Given the description of an element on the screen output the (x, y) to click on. 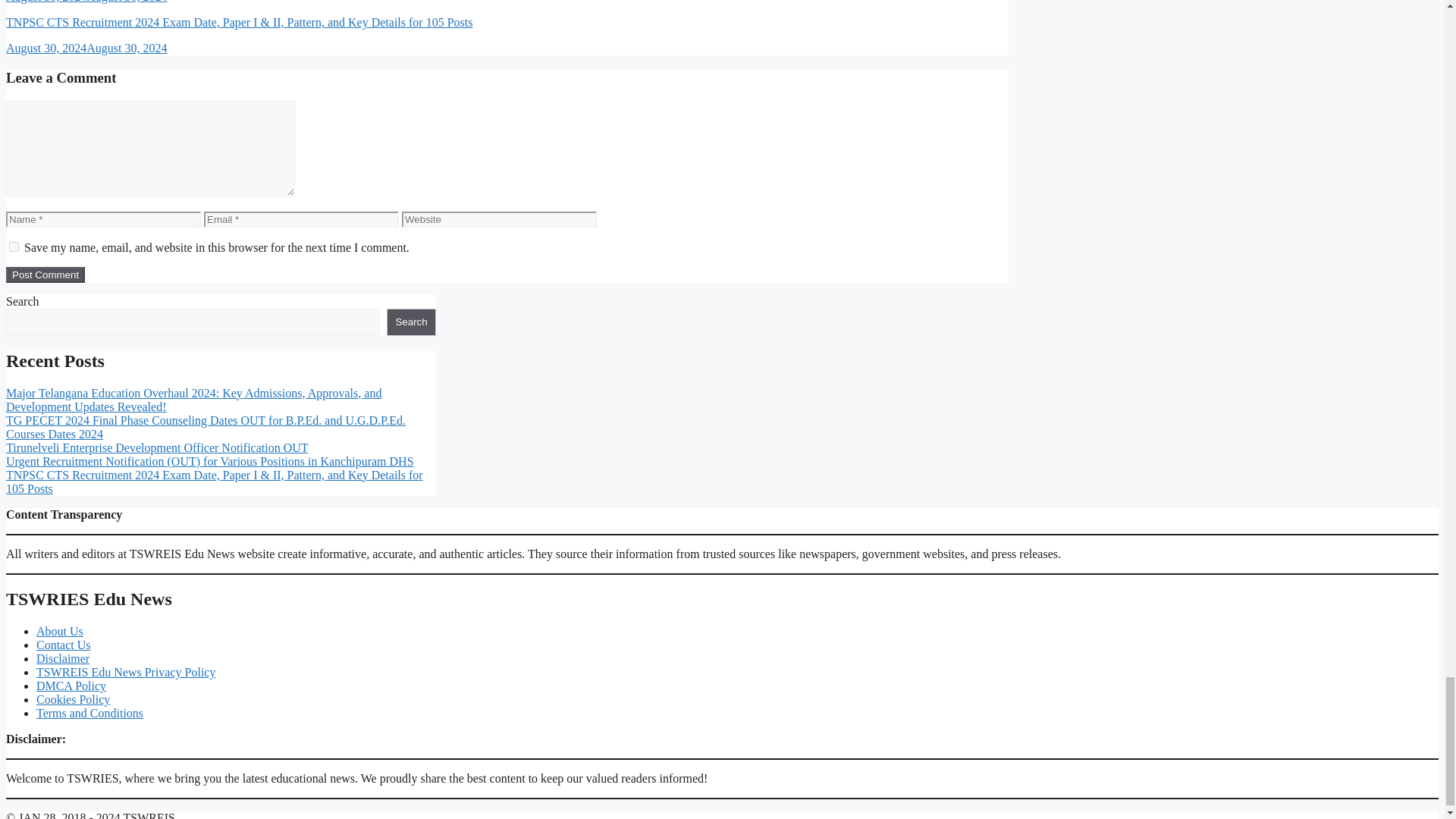
Contact Us (63, 644)
Tirunelveli Enterprise Development Officer Notification OUT (156, 447)
10:00 pm (86, 1)
About Us (59, 631)
Post Comment (44, 274)
4:57 pm (86, 47)
yes (13, 246)
Post Comment (44, 274)
